Given the description of an element on the screen output the (x, y) to click on. 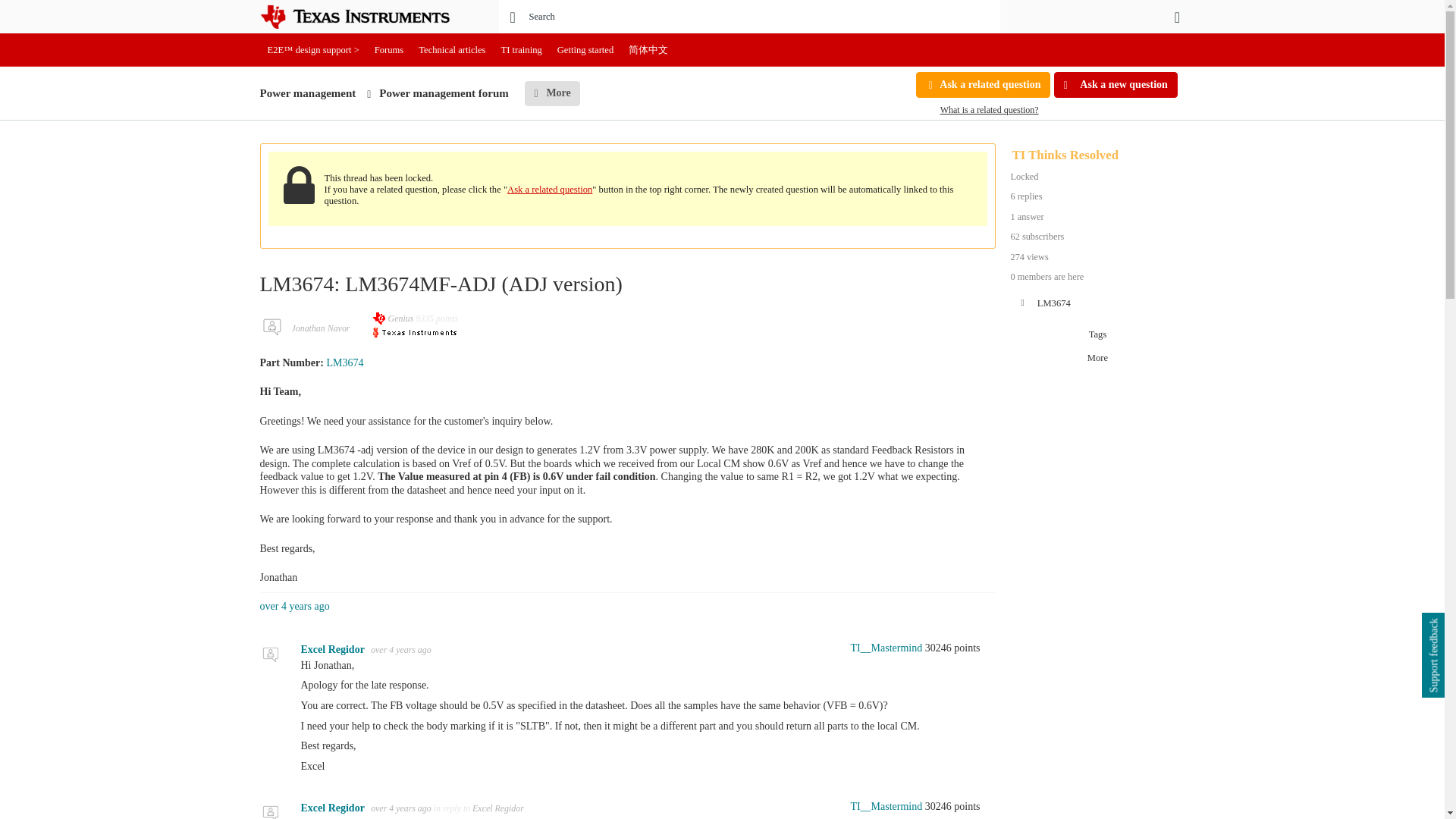
User (1177, 17)
Home (365, 16)
Click here for explanation of levels (879, 806)
Click here for explanation of levels (394, 317)
TI training (521, 49)
Getting started (585, 49)
Technical articles (451, 49)
Click here for explanation of levels (879, 647)
Forums (389, 49)
Link to Product Folder (344, 362)
